Given the description of an element on the screen output the (x, y) to click on. 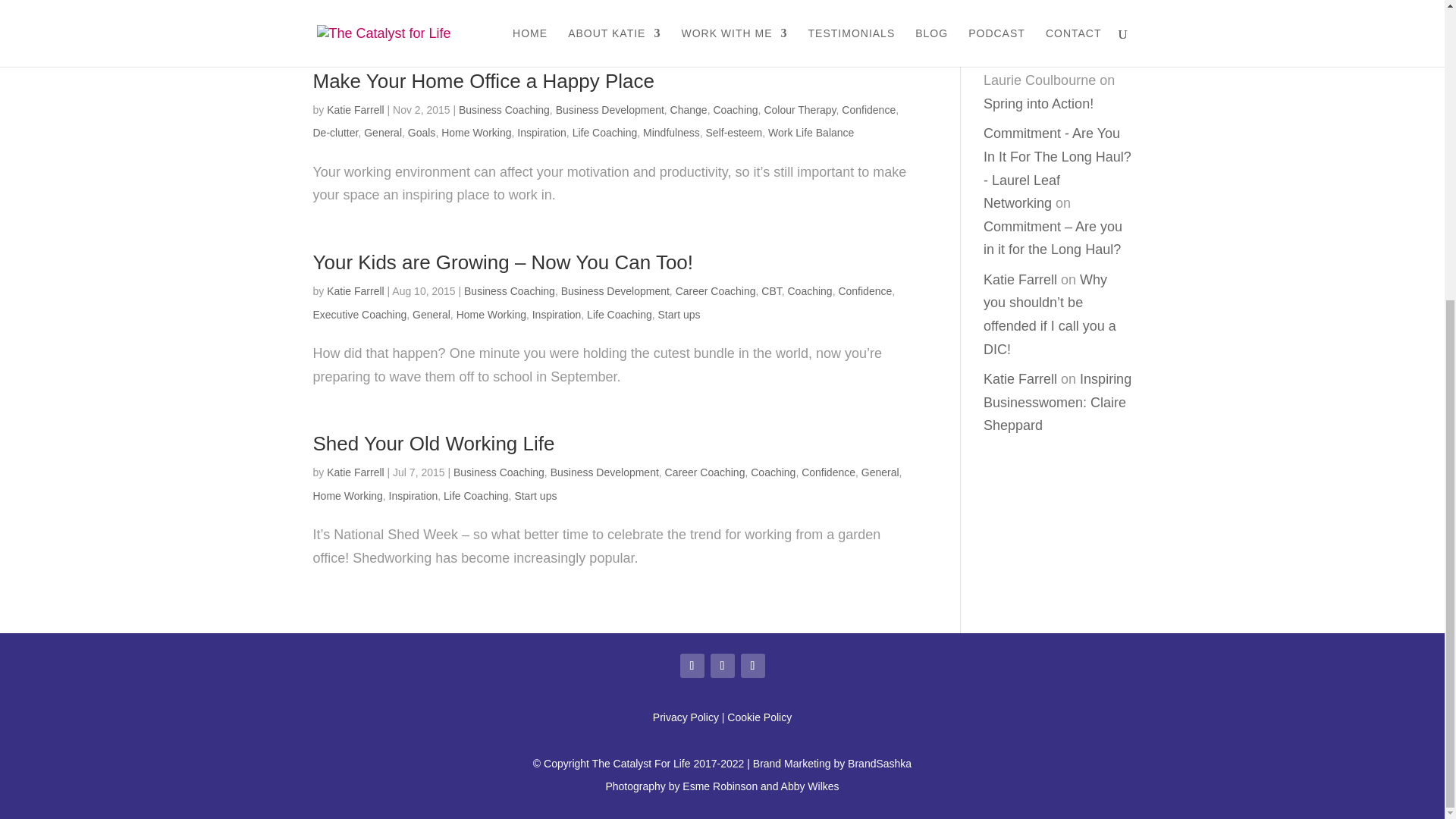
Follow on LinkedIn (751, 665)
Follow on Twitter (721, 665)
Posts by Katie Farrell (355, 472)
Posts by Katie Farrell (355, 110)
Posts by Katie Farrell (355, 291)
Follow on Facebook (691, 665)
